Given the description of an element on the screen output the (x, y) to click on. 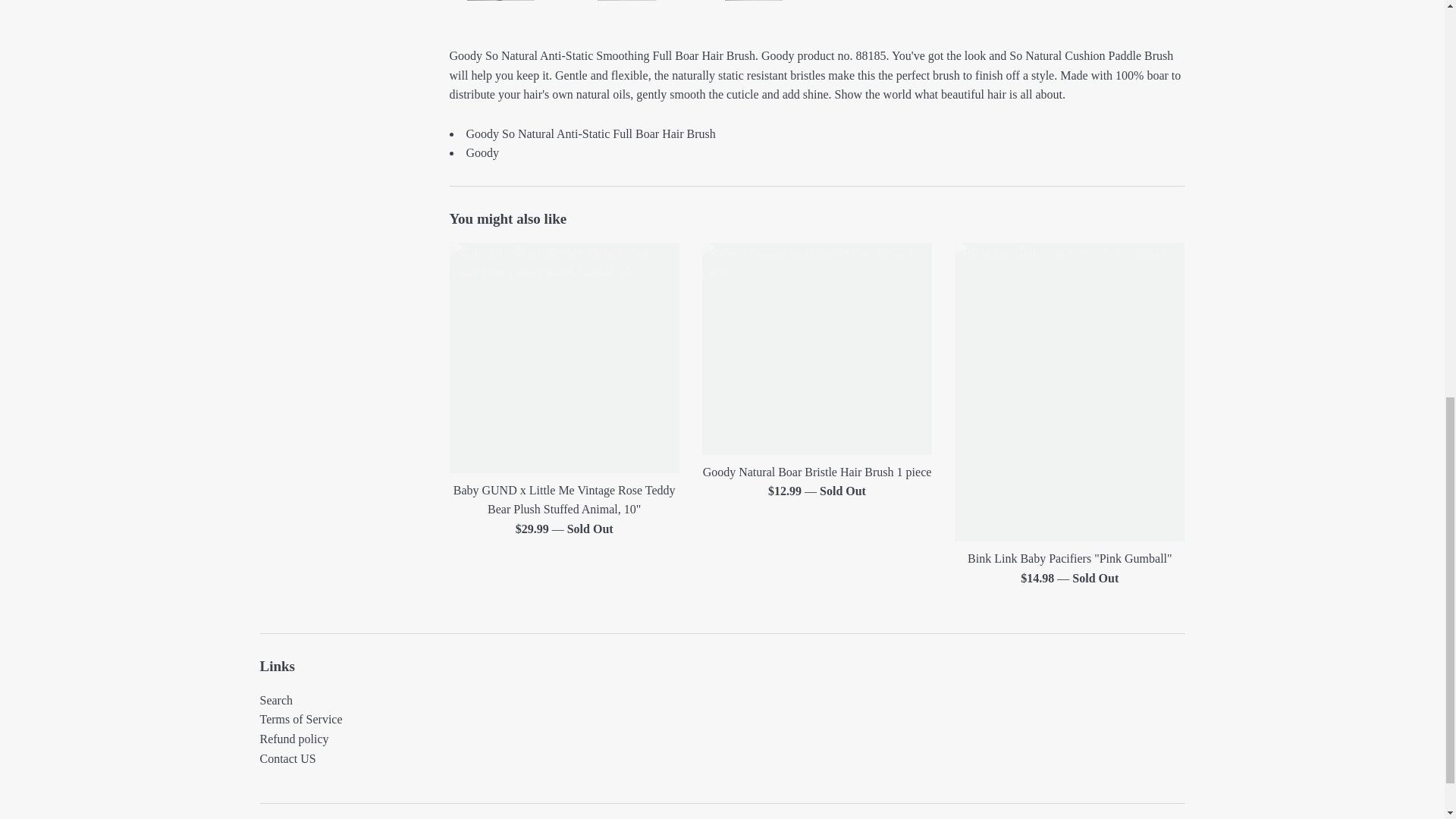
Goody Natural Boar Bristle Hair Brush 1 piece (816, 348)
Bink Link Baby Pacifiers "Pink Gumball" (1070, 391)
